Given the description of an element on the screen output the (x, y) to click on. 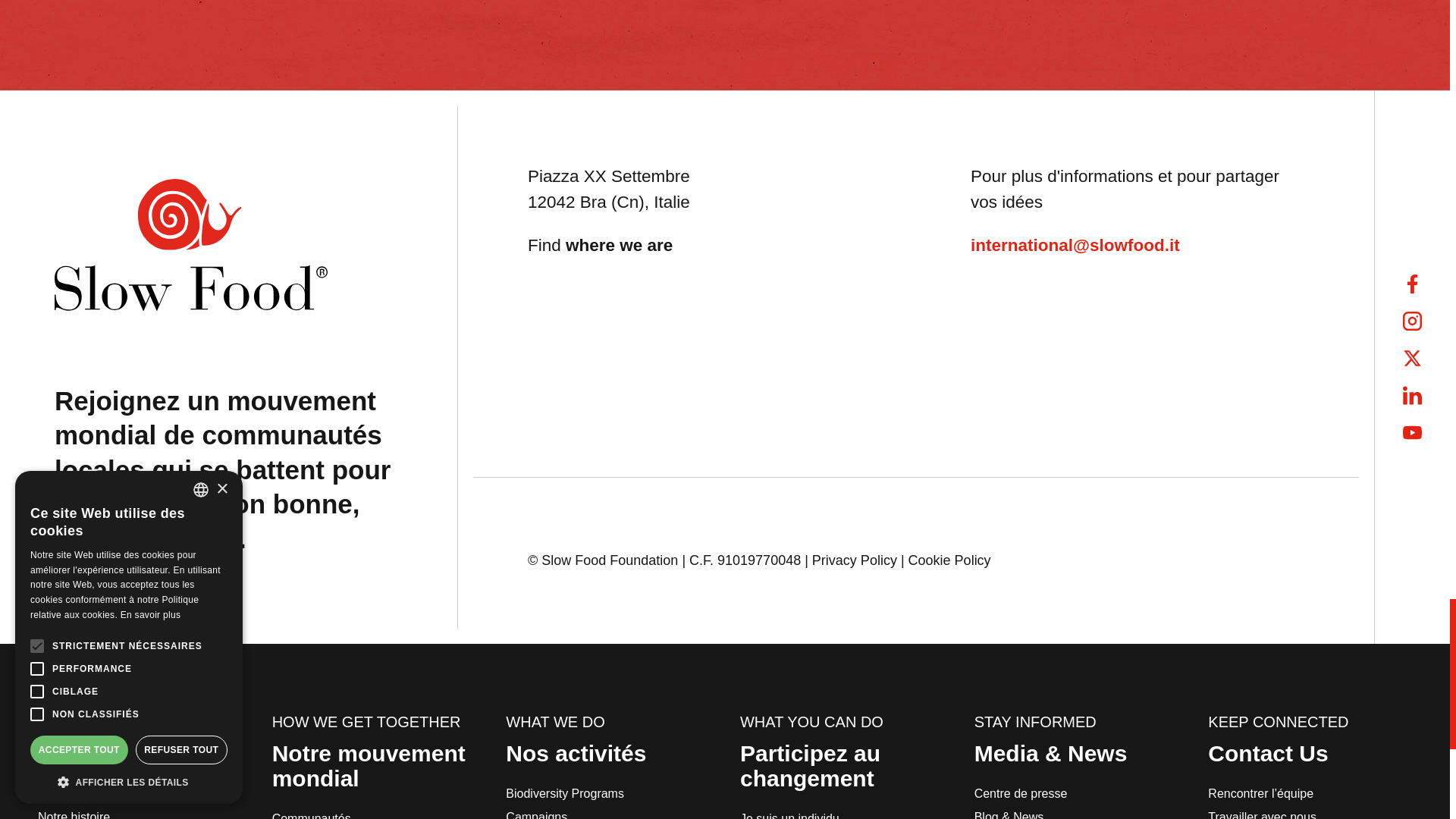
Cookie Policy (949, 560)
Slow Food (191, 245)
Privacy Policy (854, 560)
